Given the description of an element on the screen output the (x, y) to click on. 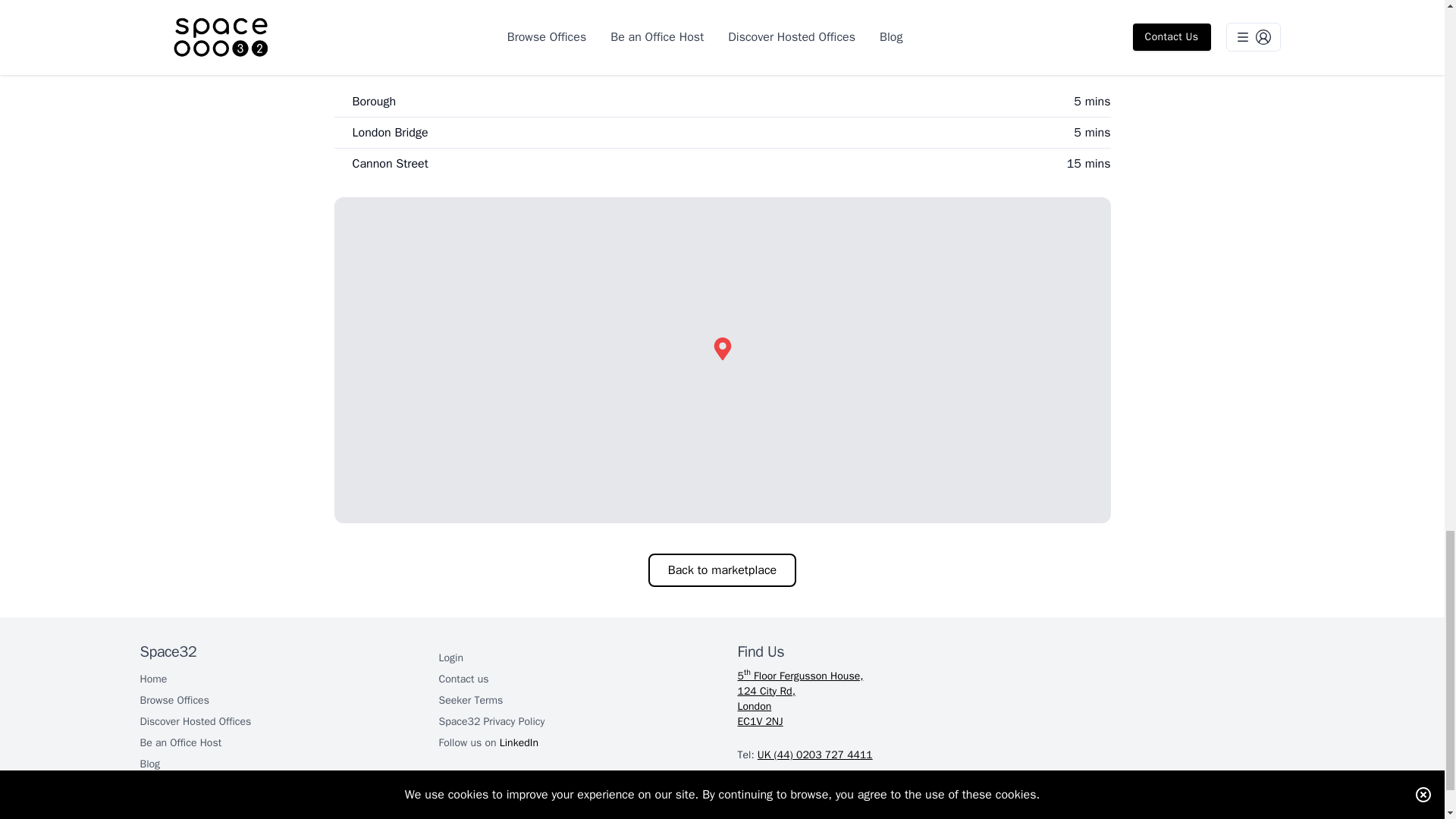
Back to marketplace (1020, 699)
Home (721, 570)
Follow us on LinkedIn (153, 677)
Blog (487, 741)
Browse Offices (149, 762)
Seeker Terms (173, 698)
Space32 Privacy Policy (470, 698)
Be an Office Host (491, 720)
Discover Hosted Offices (180, 741)
Login (194, 720)
